Given the description of an element on the screen output the (x, y) to click on. 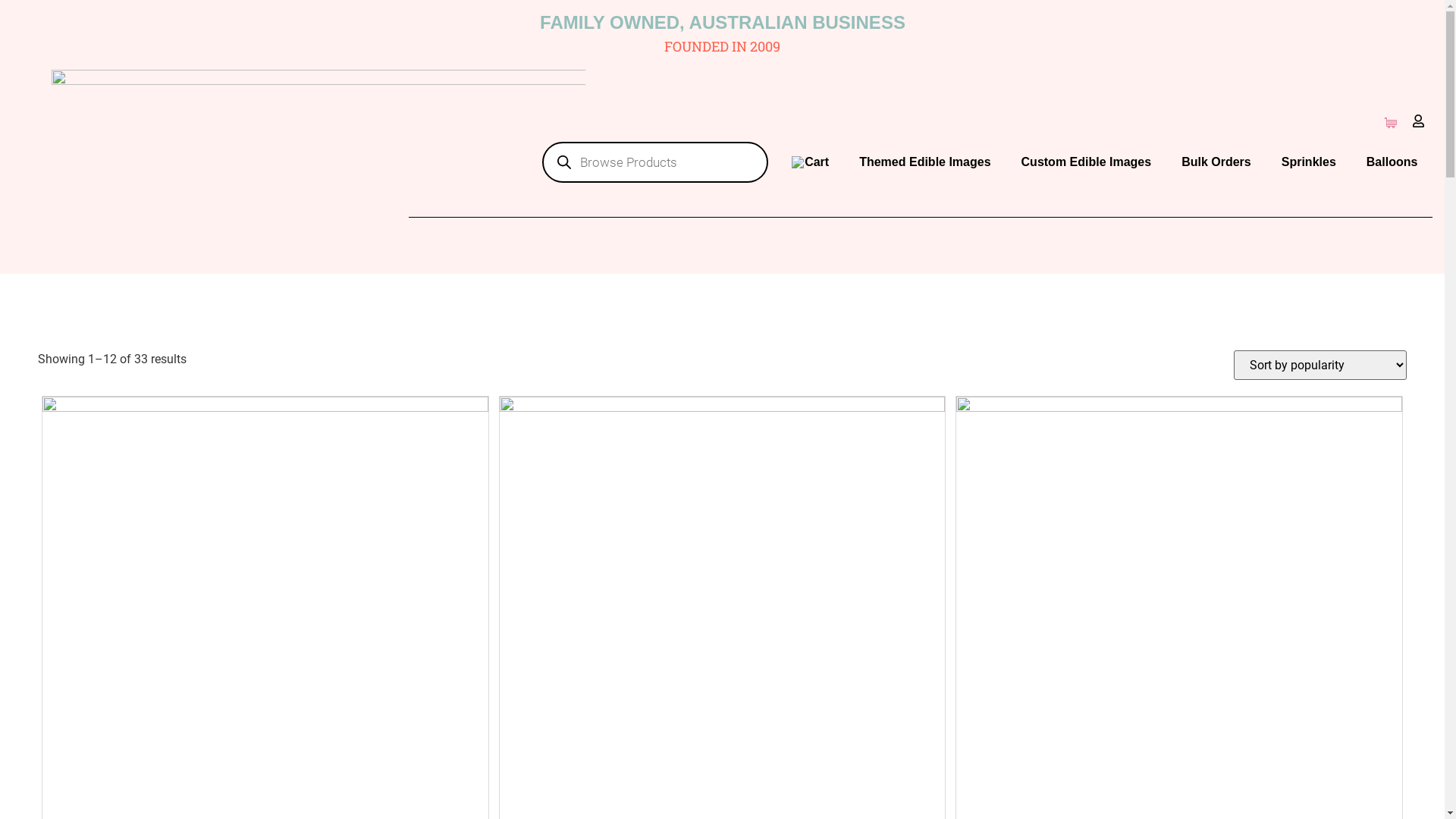
Custom Edible Images Element type: text (1086, 161)
Bulk Orders Element type: text (1216, 161)
Themed Edible Images Element type: text (924, 161)
Cart Element type: text (809, 161)
Balloons Element type: text (1392, 161)
Sprinkles Element type: text (1308, 161)
